Given the description of an element on the screen output the (x, y) to click on. 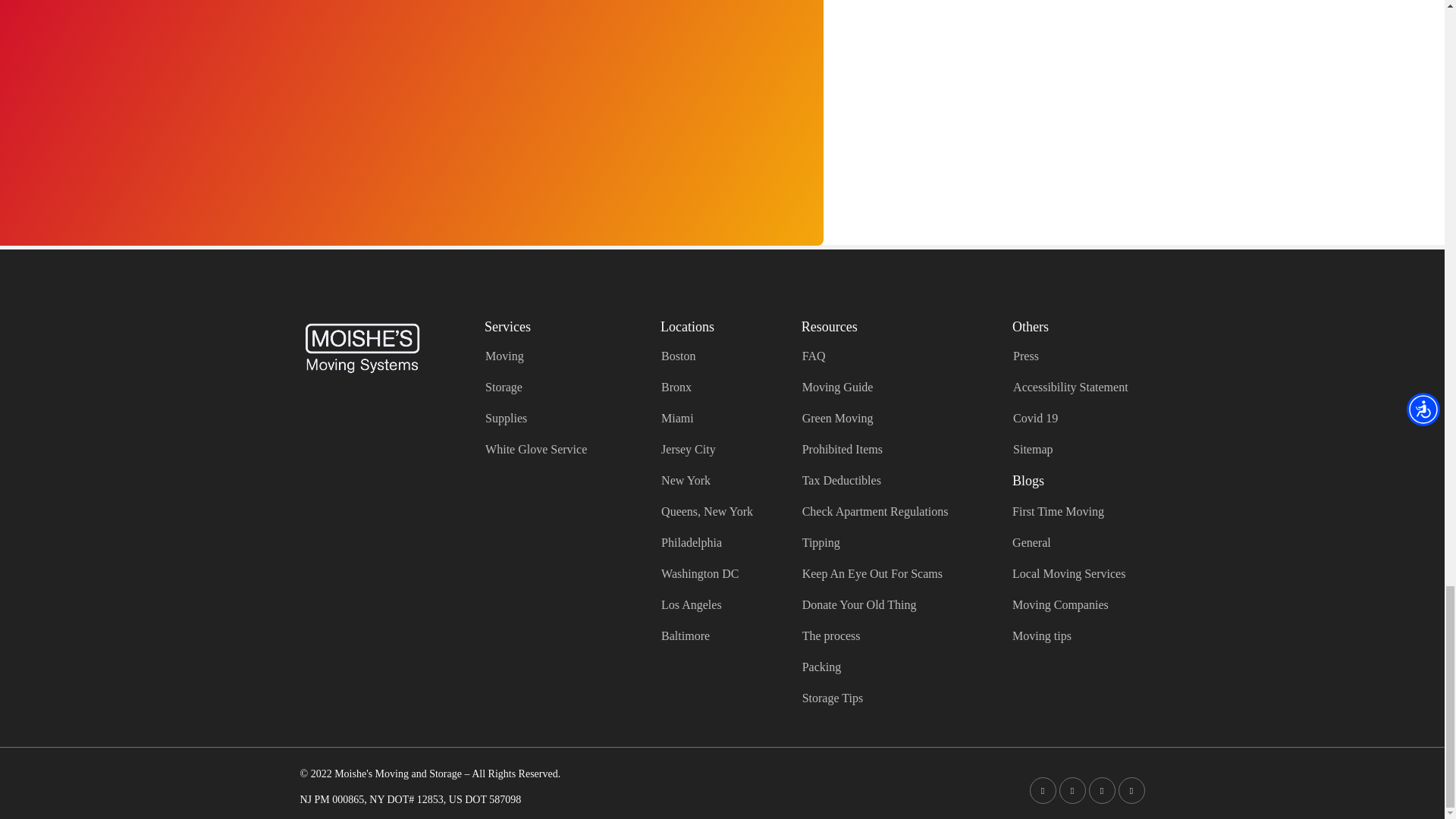
TW (1071, 790)
Supplies (551, 416)
FB (1043, 790)
Moishe's Moving systems- Logo (362, 346)
Moving (551, 354)
Storage (551, 385)
Blogs (1027, 480)
